Given the description of an element on the screen output the (x, y) to click on. 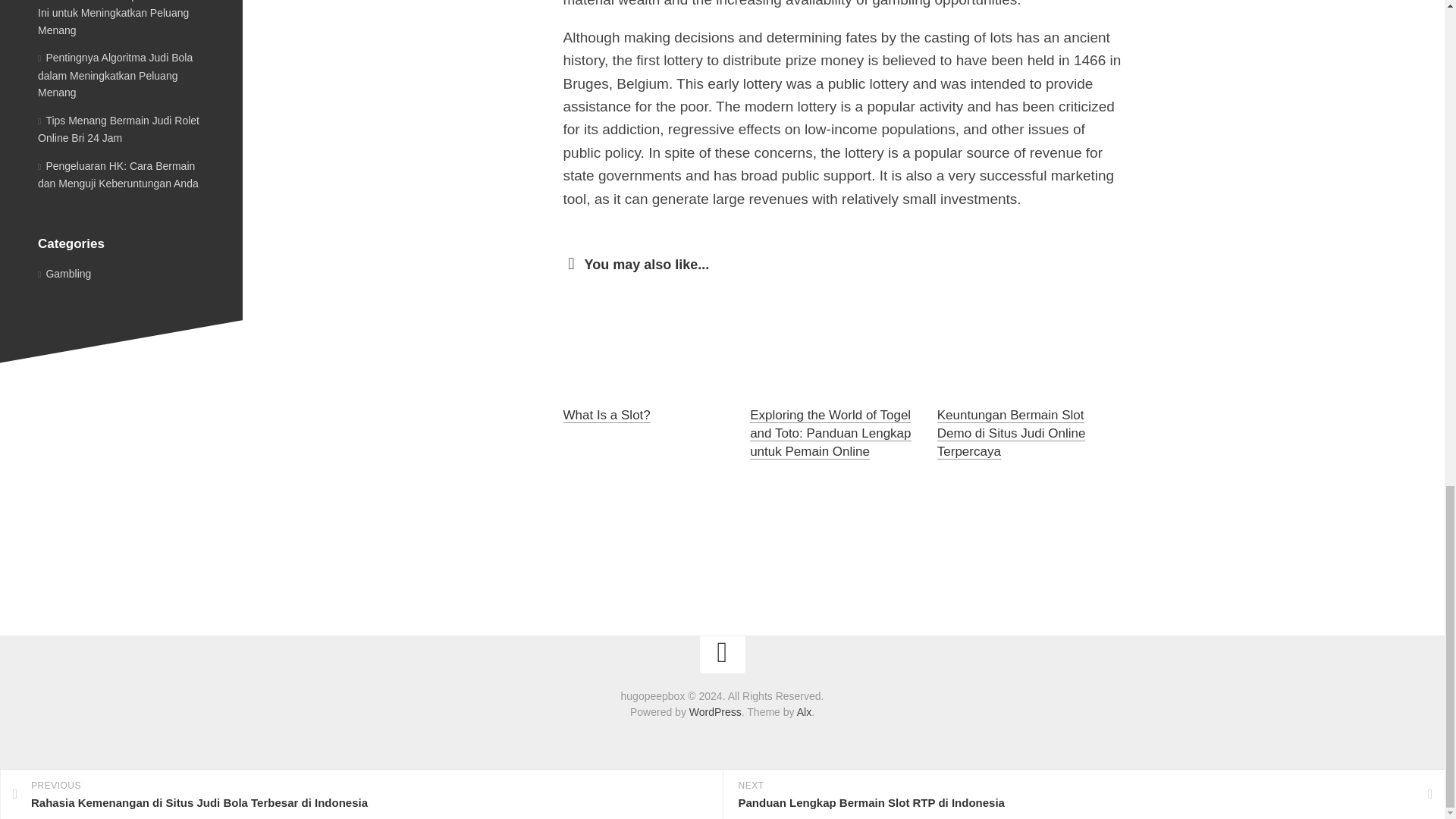
Keuntungan Bermain Slot Demo di Situs Judi Online Terpercaya (1011, 432)
What Is a Slot? (605, 414)
